Given the description of an element on the screen output the (x, y) to click on. 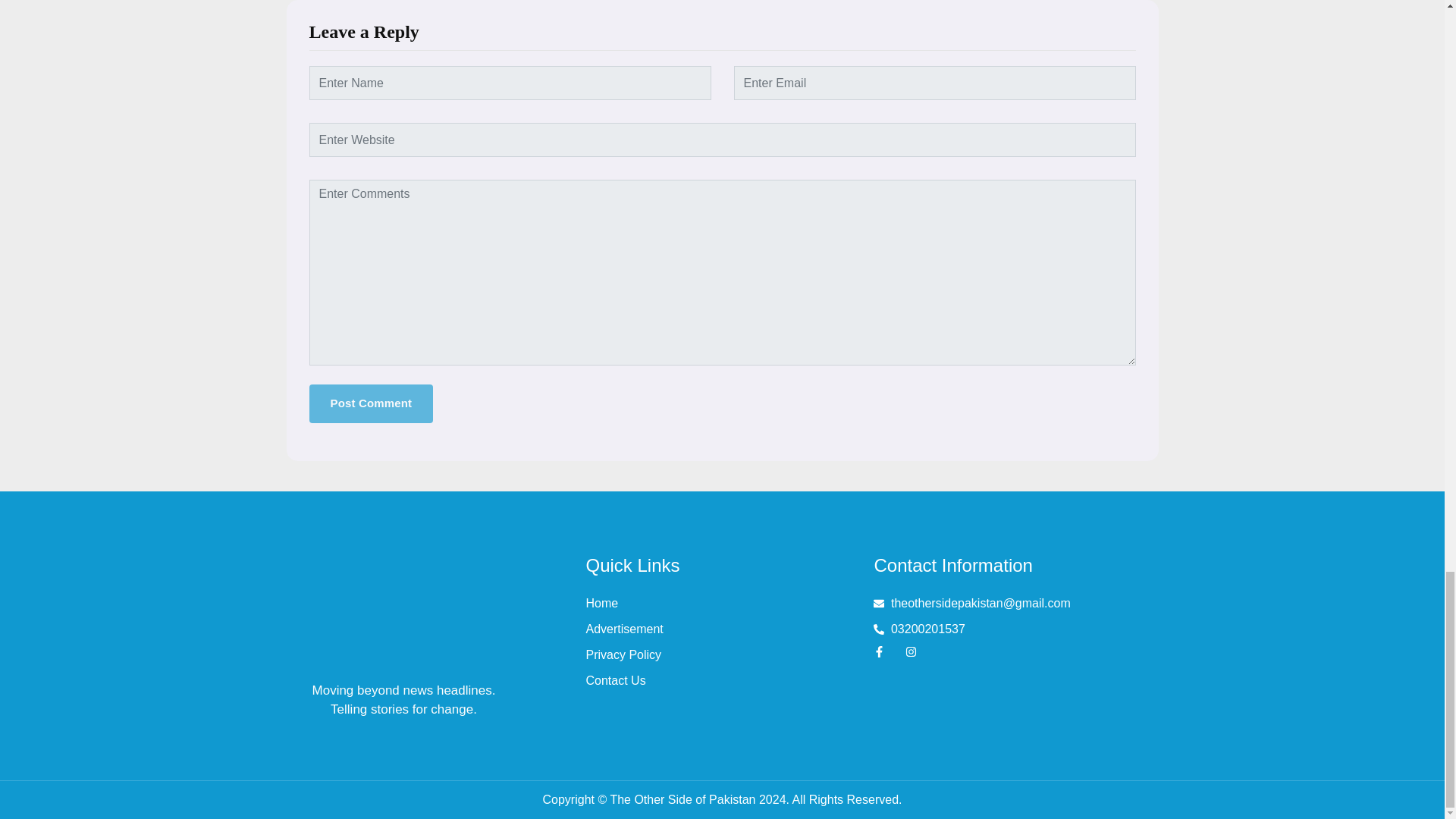
Post Comment (370, 403)
